Given the description of an element on the screen output the (x, y) to click on. 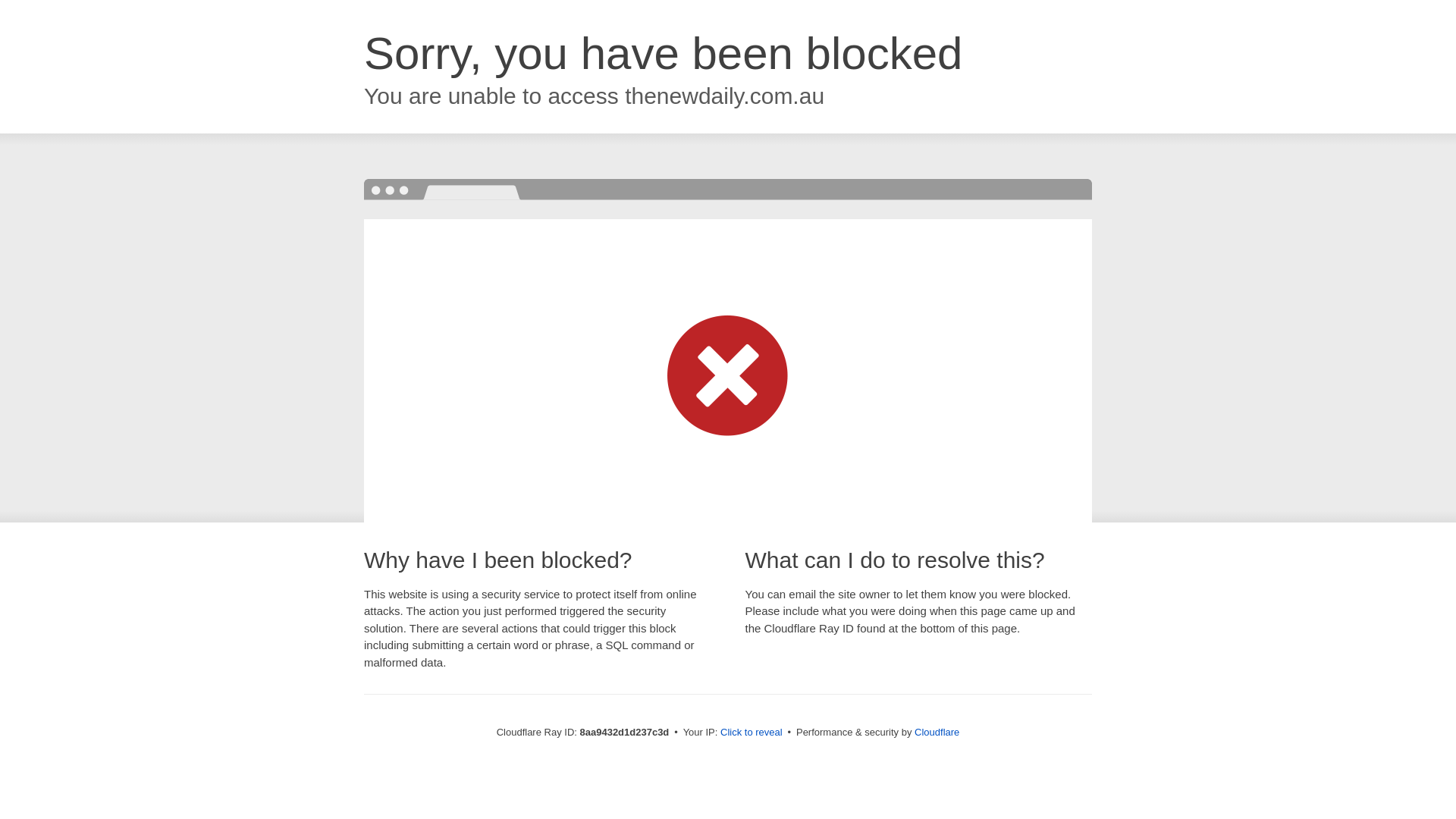
Cloudflare (936, 731)
Click to reveal (751, 732)
